Given the description of an element on the screen output the (x, y) to click on. 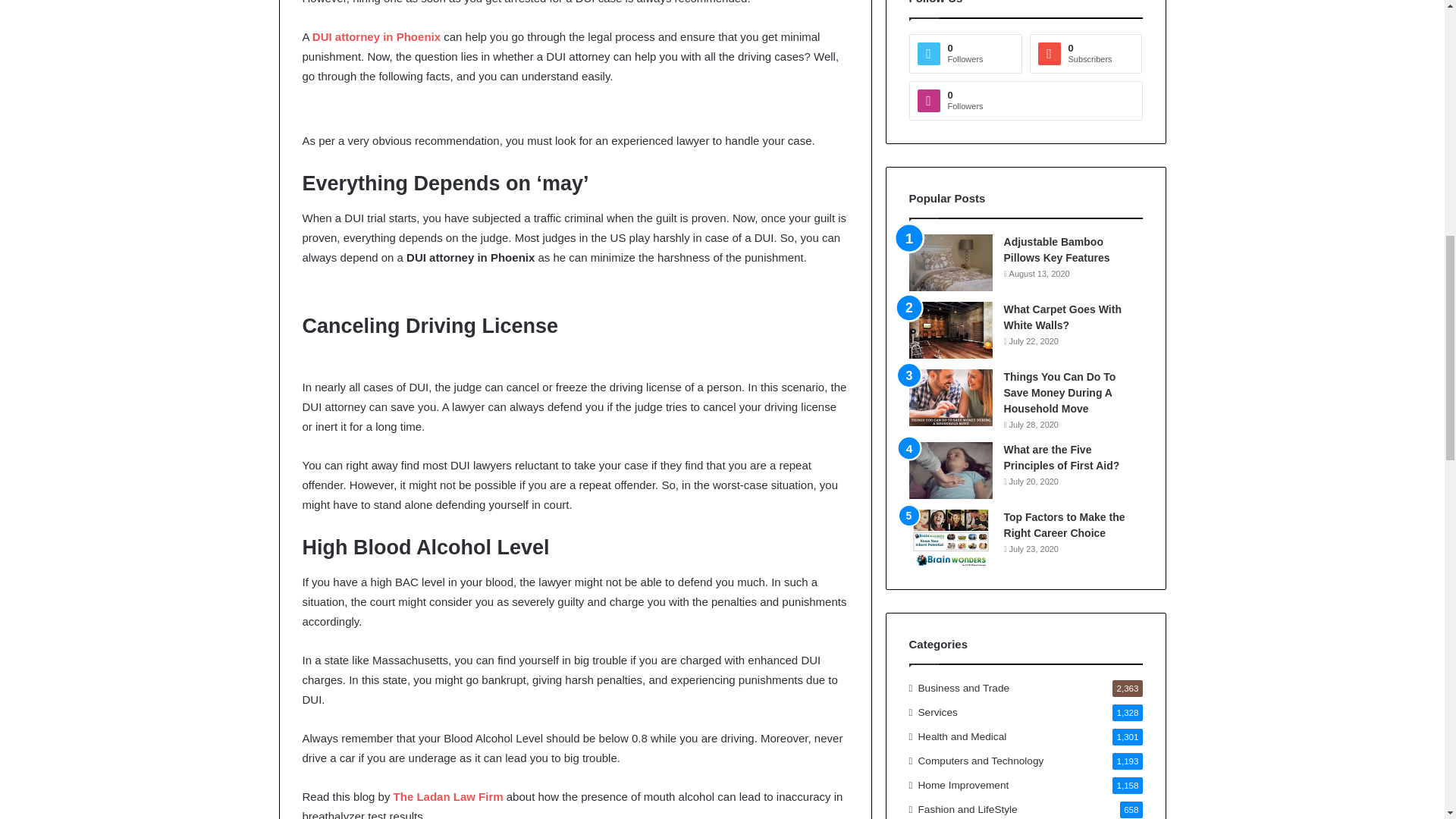
DUI attorney in Phoenix (377, 36)
